Given the description of an element on the screen output the (x, y) to click on. 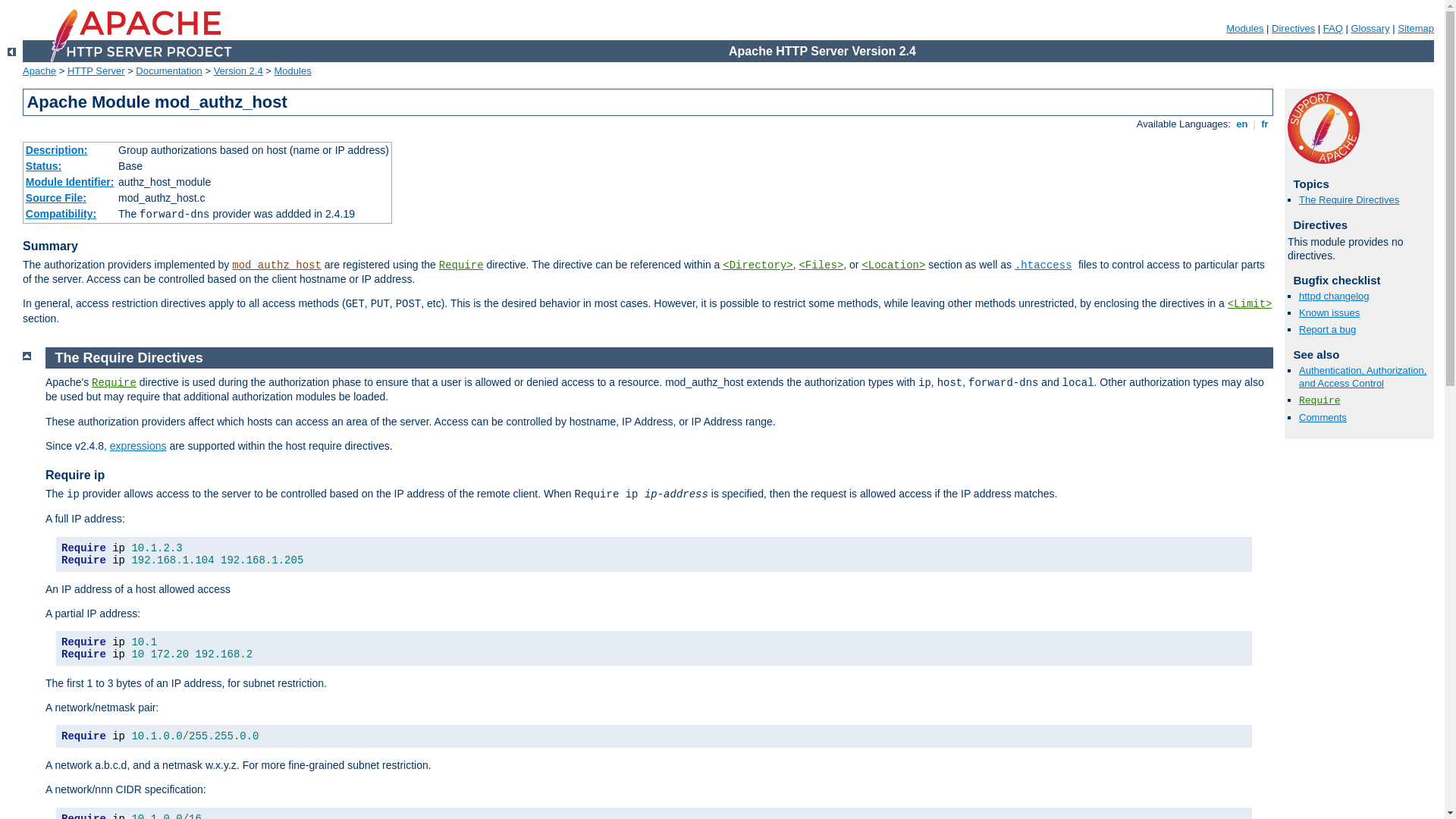
Source File: Element type: text (55, 197)
httpd changelog Element type: text (1334, 295)
Glossary Element type: text (1369, 28)
Require Element type: text (1319, 400)
Version 2.4 Element type: text (238, 70)
Require Element type: text (113, 382)
Require Element type: text (461, 265)
Sitemap Element type: text (1415, 28)
HTTP Server Element type: text (96, 70)
Compatibility: Element type: text (60, 213)
Report a bug Element type: text (1327, 329)
expressions Element type: text (137, 445)
Comments Element type: text (1322, 417)
<Location> Element type: text (893, 265)
Authentication, Authorization, and Access Control Element type: text (1362, 376)
<- Element type: hover (11, 51)
<Files> Element type: text (820, 265)
The Require Directives Element type: text (1349, 199)
Require ip Element type: text (74, 474)
<Limit> Element type: text (1249, 304)
 fr  Element type: text (1264, 123)
Status: Element type: text (43, 166)
<Directory> Element type: text (757, 265)
Modules Element type: text (292, 70)
Description: Element type: text (56, 150)
The Require Directives Element type: text (129, 357)
FAQ Element type: text (1333, 28)
Modules Element type: text (1244, 28)
Directives Element type: text (1292, 28)
Known issues Element type: text (1329, 312)
Module Identifier: Element type: text (69, 181)
mod_authz_host Element type: text (276, 265)
.htaccess Element type: text (1043, 265)
Apache Element type: text (39, 70)
 en  Element type: text (1241, 123)
Documentation Element type: text (168, 70)
